Given the description of an element on the screen output the (x, y) to click on. 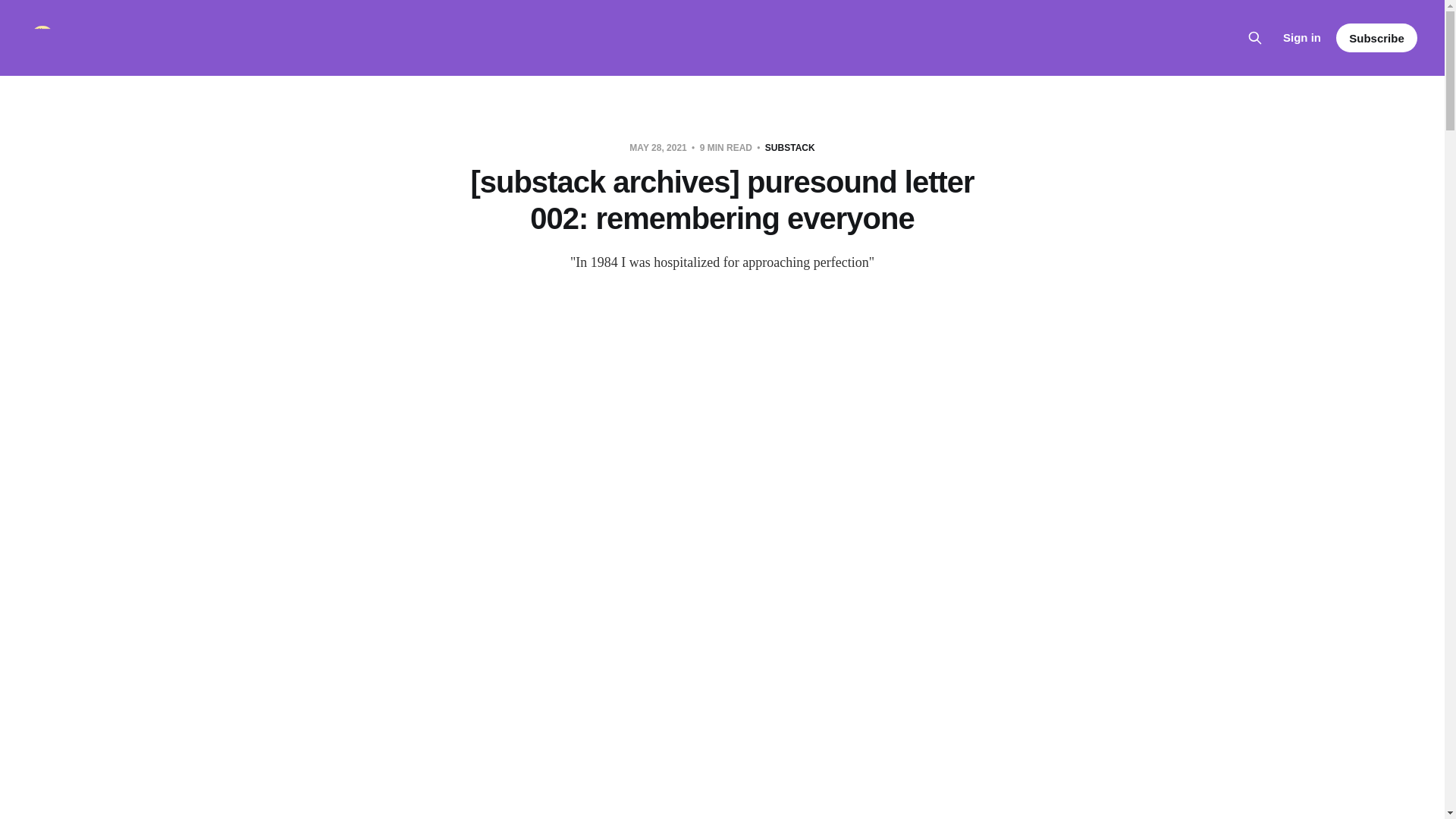
SUBSTACK (790, 147)
Sign in (1301, 37)
Subscribe (1376, 37)
